Given the description of an element on the screen output the (x, y) to click on. 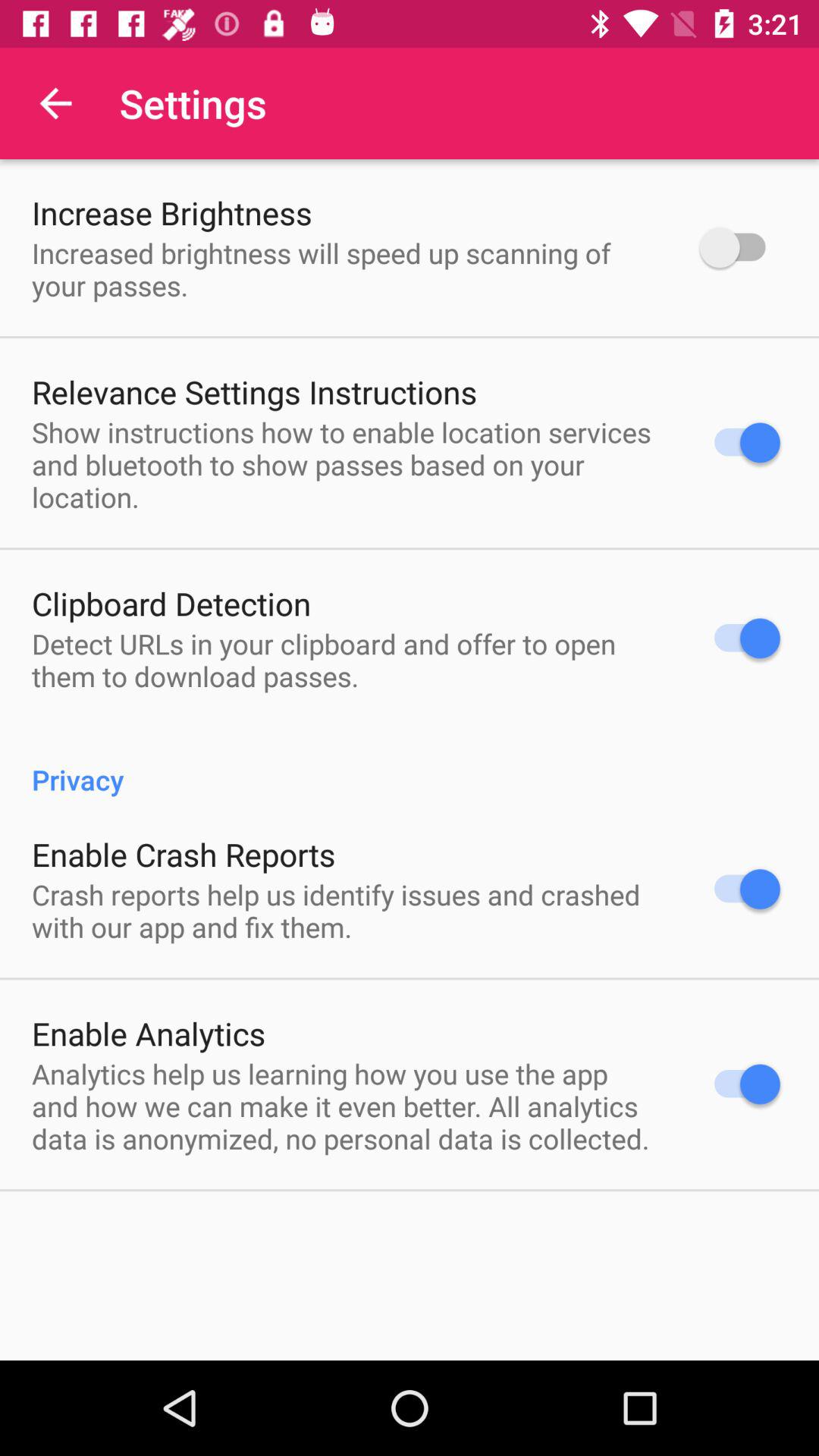
click the enable analytics (148, 1033)
